Given the description of an element on the screen output the (x, y) to click on. 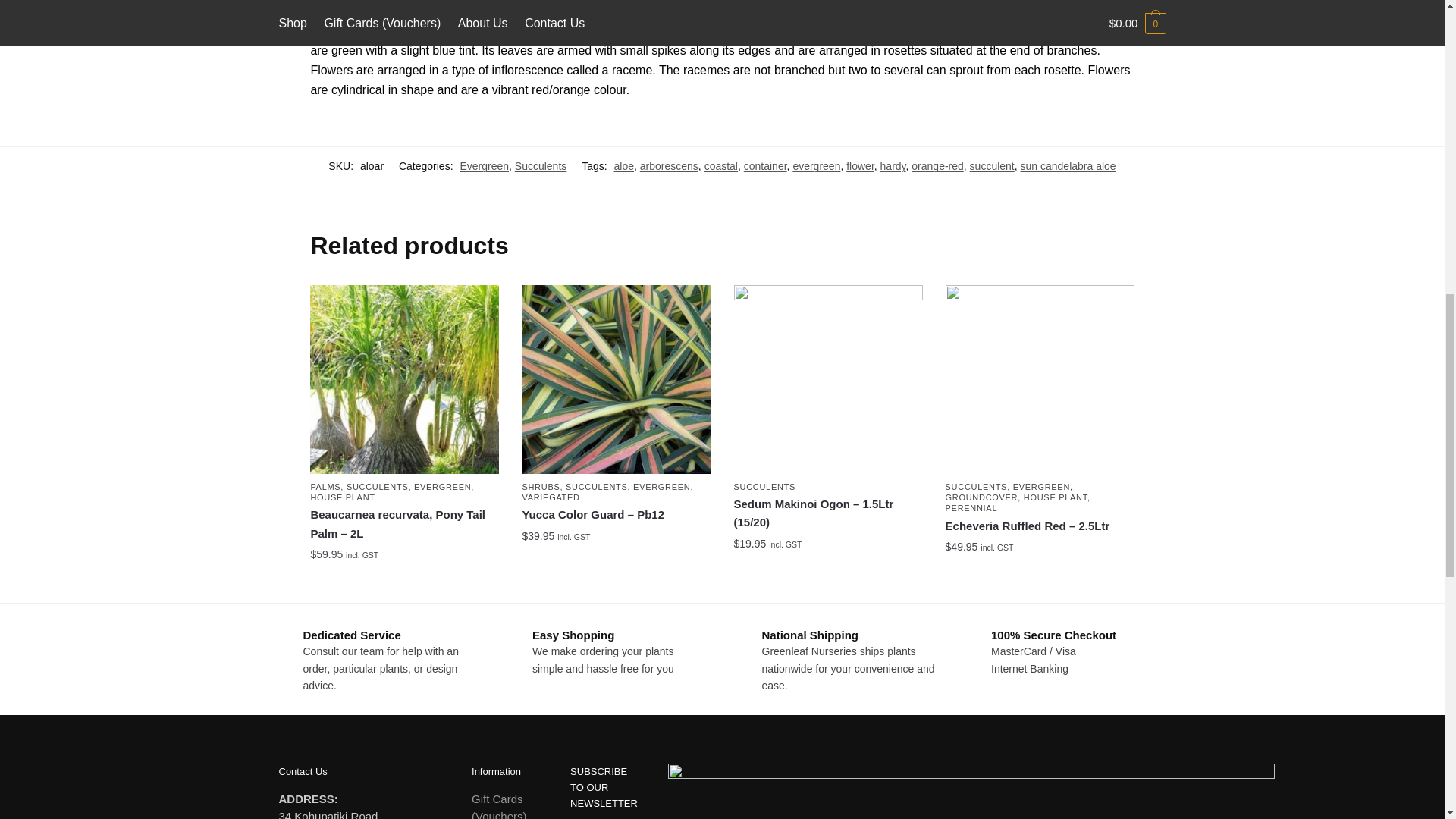
evergreen (816, 165)
succulent (991, 165)
Succulents (540, 165)
PALMS (325, 486)
sun candelabra aloe (1068, 165)
Evergreen (484, 165)
orange-red (937, 165)
SUCCULENTS (377, 486)
flower (860, 165)
aloe (623, 165)
arborescens (669, 165)
coastal (721, 165)
hardy (892, 165)
container (765, 165)
